Given the description of an element on the screen output the (x, y) to click on. 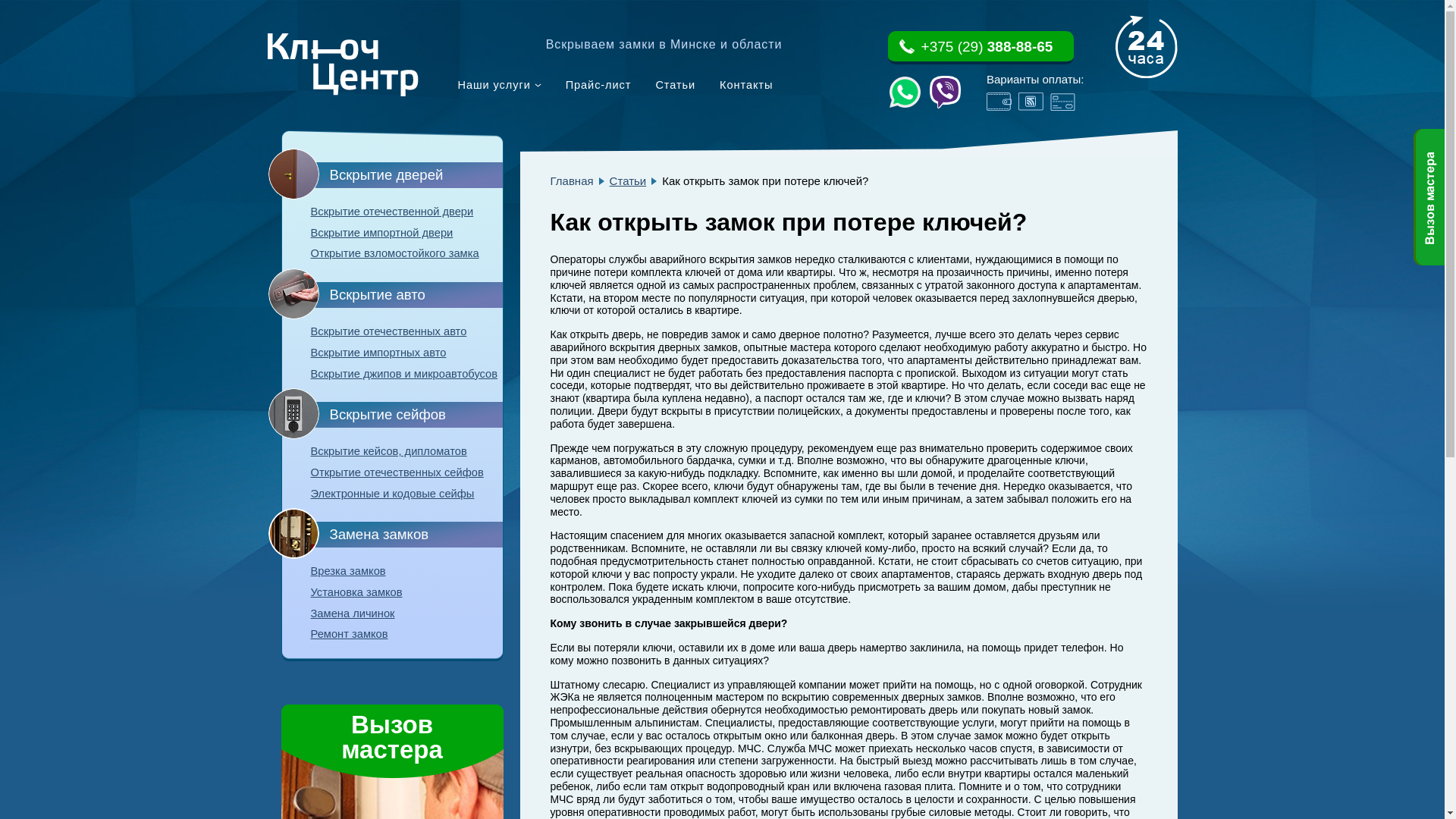
+375 (29) 388-88-65 Element type: text (980, 47)
